Given the description of an element on the screen output the (x, y) to click on. 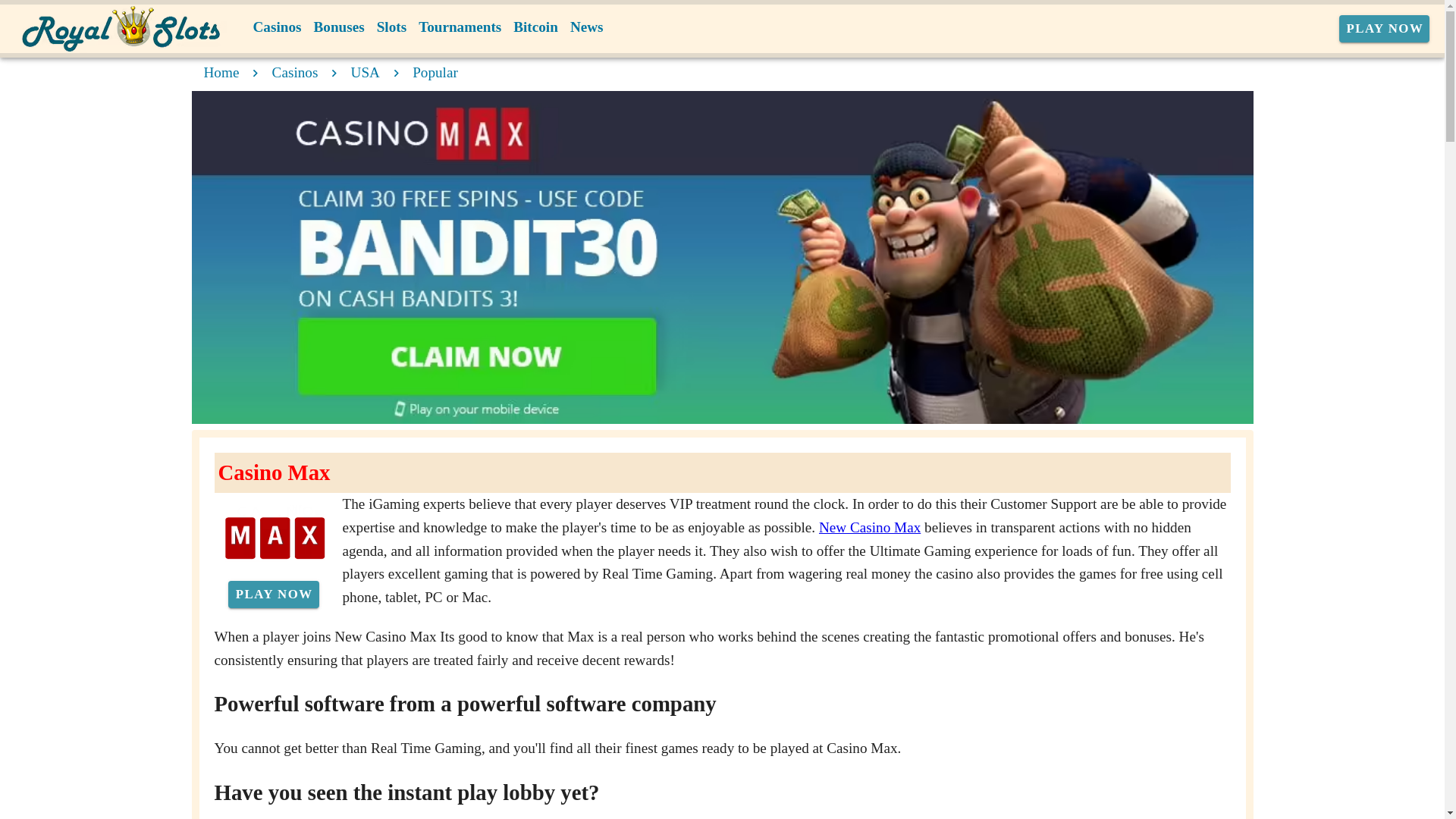
News (587, 27)
PLAY NOW (273, 594)
Casinos (277, 27)
Slots (391, 27)
New Casino Max (869, 527)
Popular (435, 72)
Bonuses (338, 27)
Home (220, 72)
Casinos (295, 72)
PLAY NOW (1384, 28)
